Given the description of an element on the screen output the (x, y) to click on. 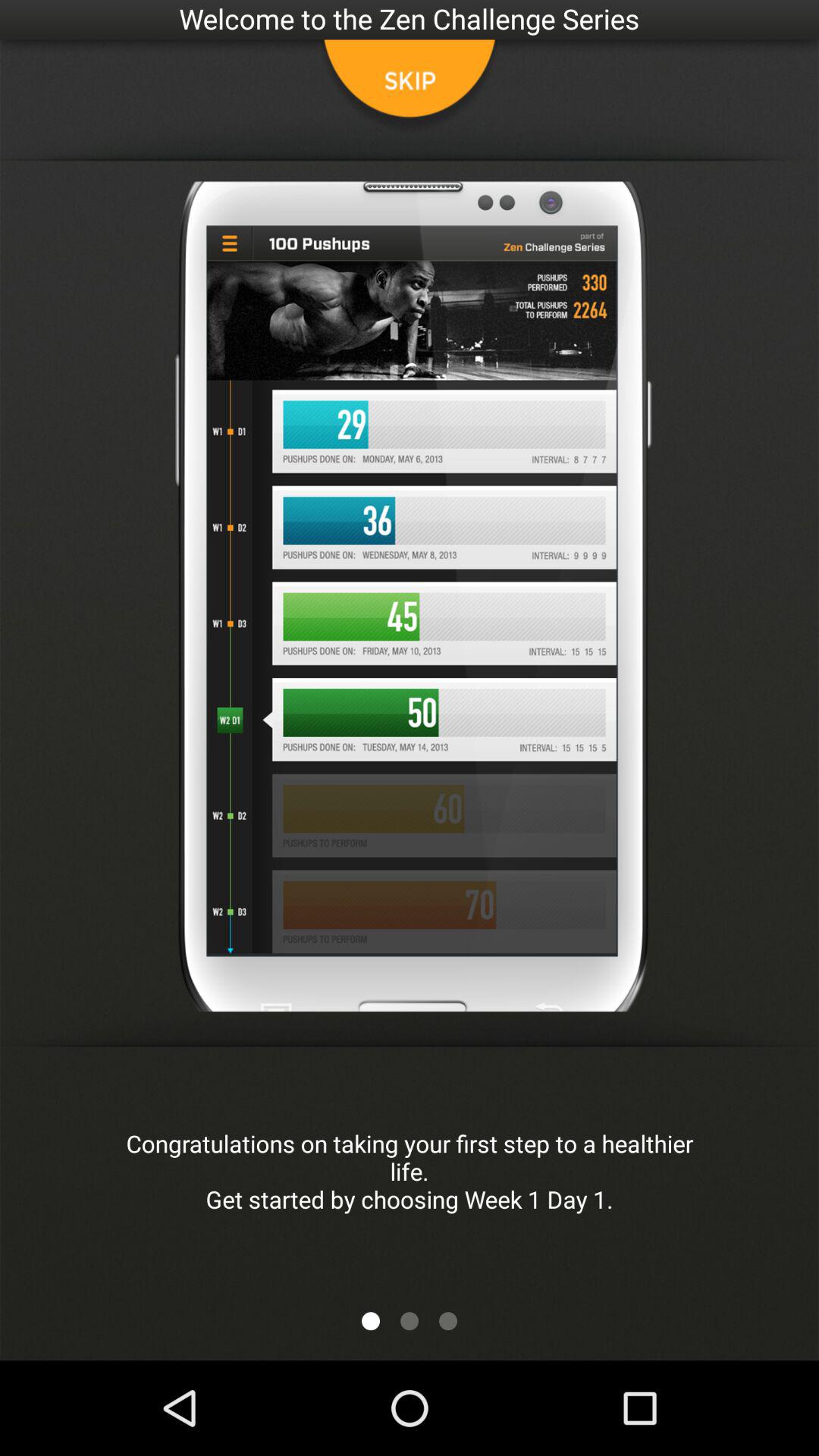
go to page (448, 1321)
